Given the description of an element on the screen output the (x, y) to click on. 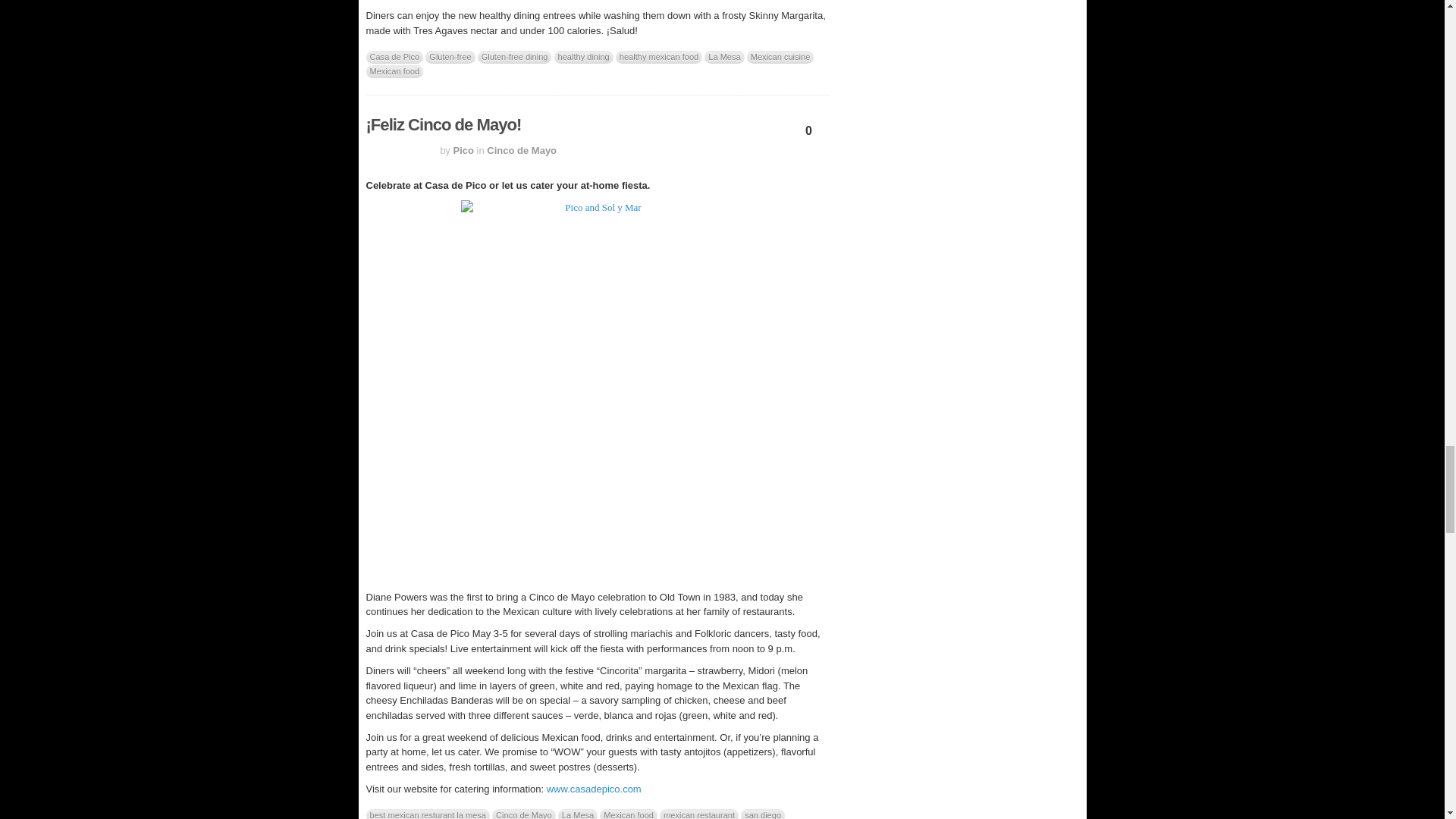
Posts by Pico (462, 150)
